Given the description of an element on the screen output the (x, y) to click on. 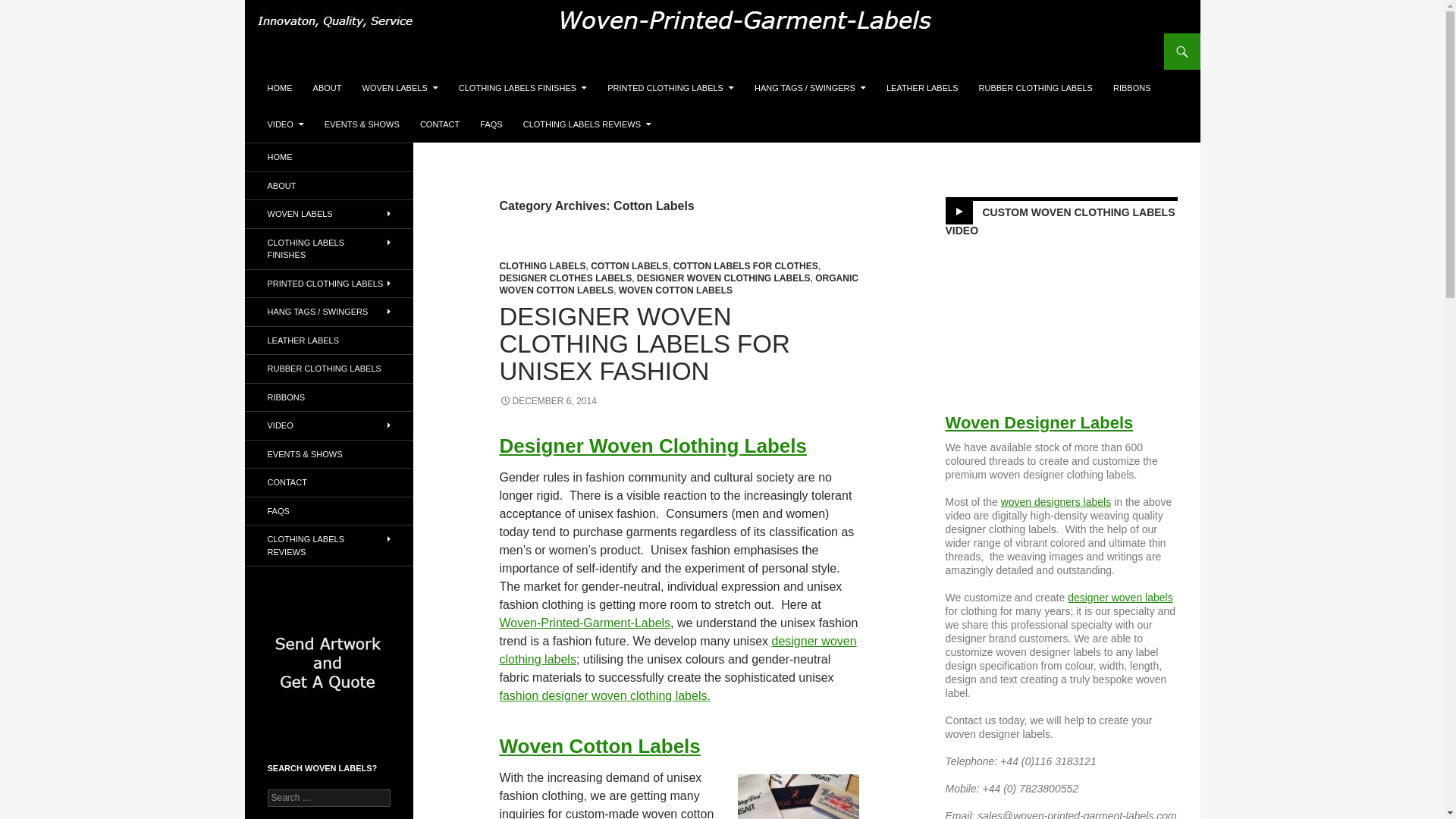
CONTACT (439, 124)
Custom Clothing Labels (1120, 597)
Woven Designer Labels (1039, 422)
RIBBONS (1131, 87)
Woven Designer Labels (1056, 501)
WOVEN LABELS (399, 87)
Woven Printed Garment Labels (584, 622)
HOME (279, 87)
Designer Woven Clothing Labels (652, 445)
ABOUT (327, 87)
Fashion Designer Woven Clothing Labels (604, 695)
PRINTED CLOTHING LABELS (670, 87)
